Given the description of an element on the screen output the (x, y) to click on. 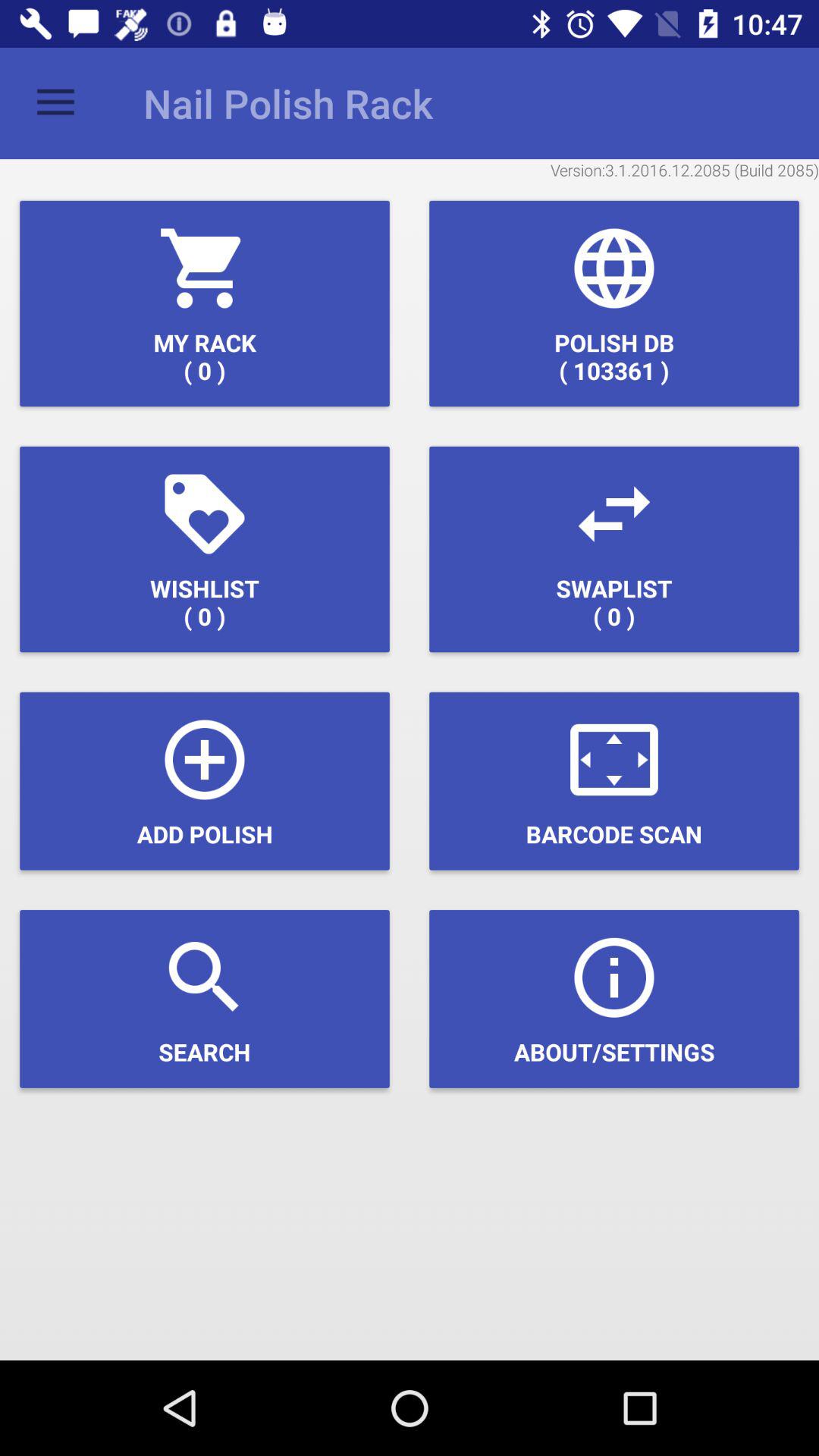
choose icon below wishlist
( 0 ) icon (204, 781)
